Given the description of an element on the screen output the (x, y) to click on. 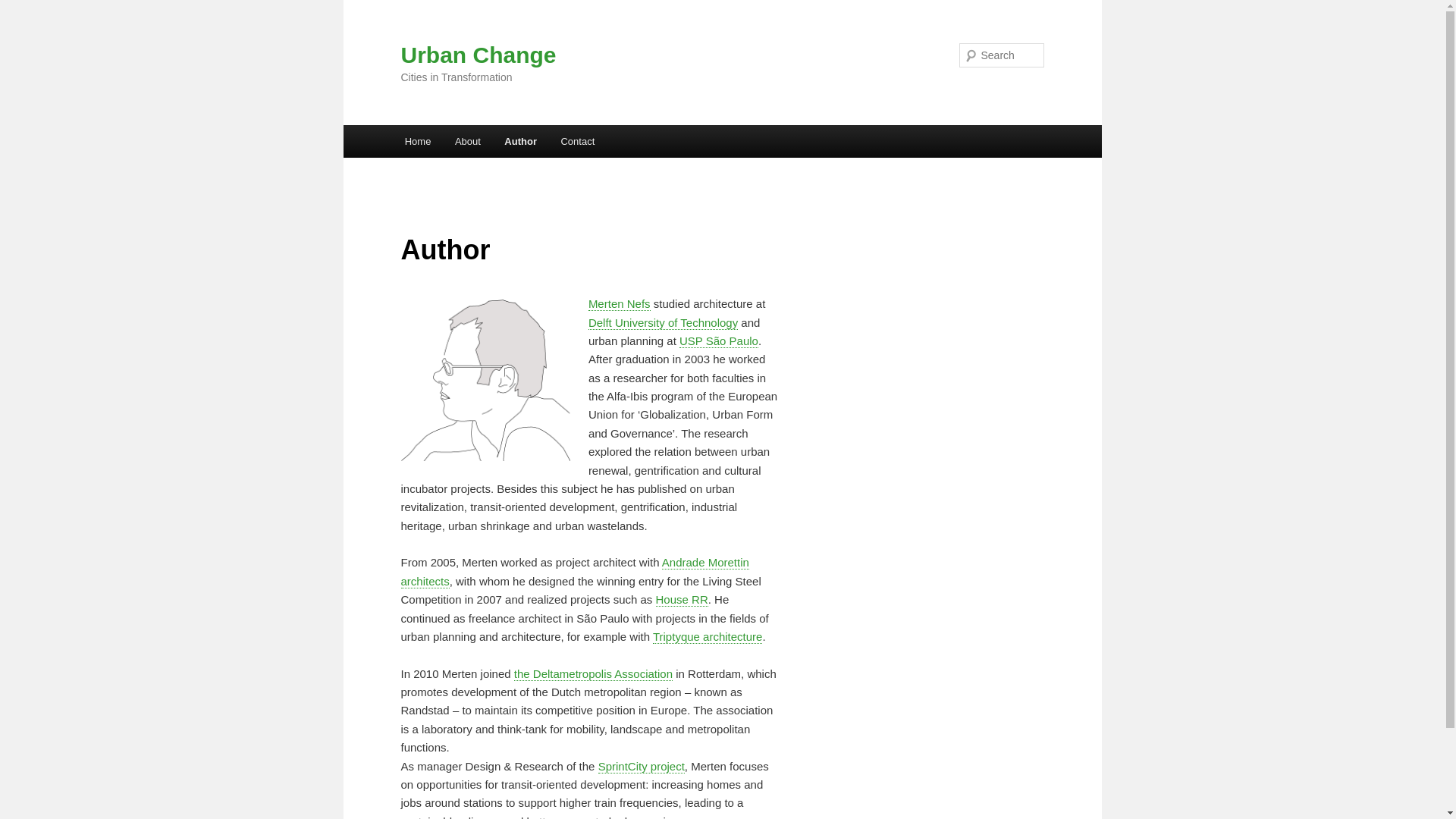
Triptyque architecture (707, 636)
the Deltametropolis Association (592, 673)
Association Delta Metropolis (592, 673)
Contact (577, 141)
Home (417, 141)
SprintCity (641, 766)
Search (24, 8)
Skip to primary content (80, 9)
Delft University of Technology (663, 323)
Author (520, 141)
